Given the description of an element on the screen output the (x, y) to click on. 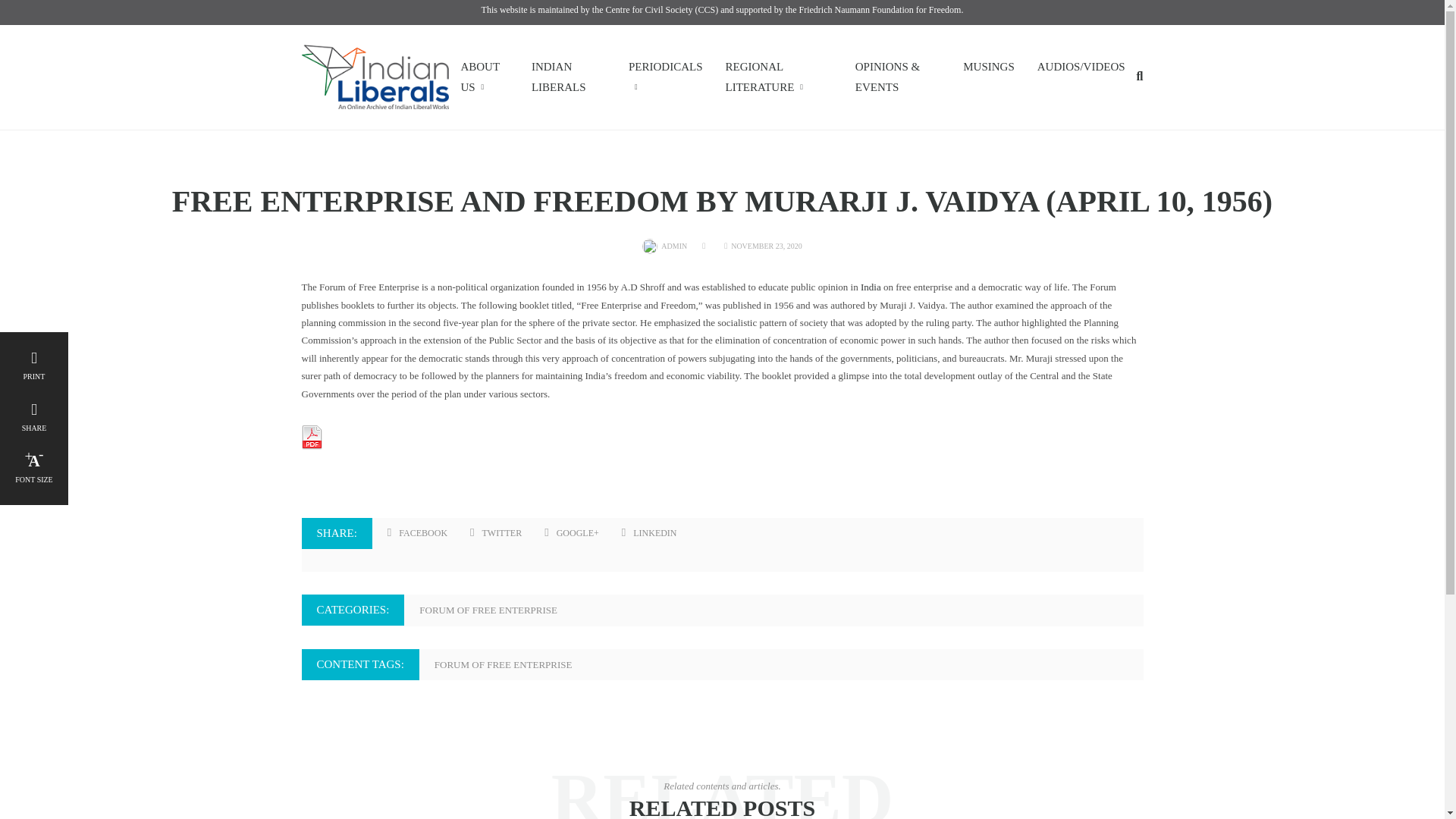
INDIAN LIBERALS (568, 77)
PERIODICALS (665, 77)
Indian Liberals (375, 75)
MUSINGS (989, 67)
Share toLinkedin (649, 533)
Share toFacebook (416, 533)
ABOUT US (483, 77)
Share toTwitter (495, 533)
REGIONAL LITERATURE (778, 77)
